Given the description of an element on the screen output the (x, y) to click on. 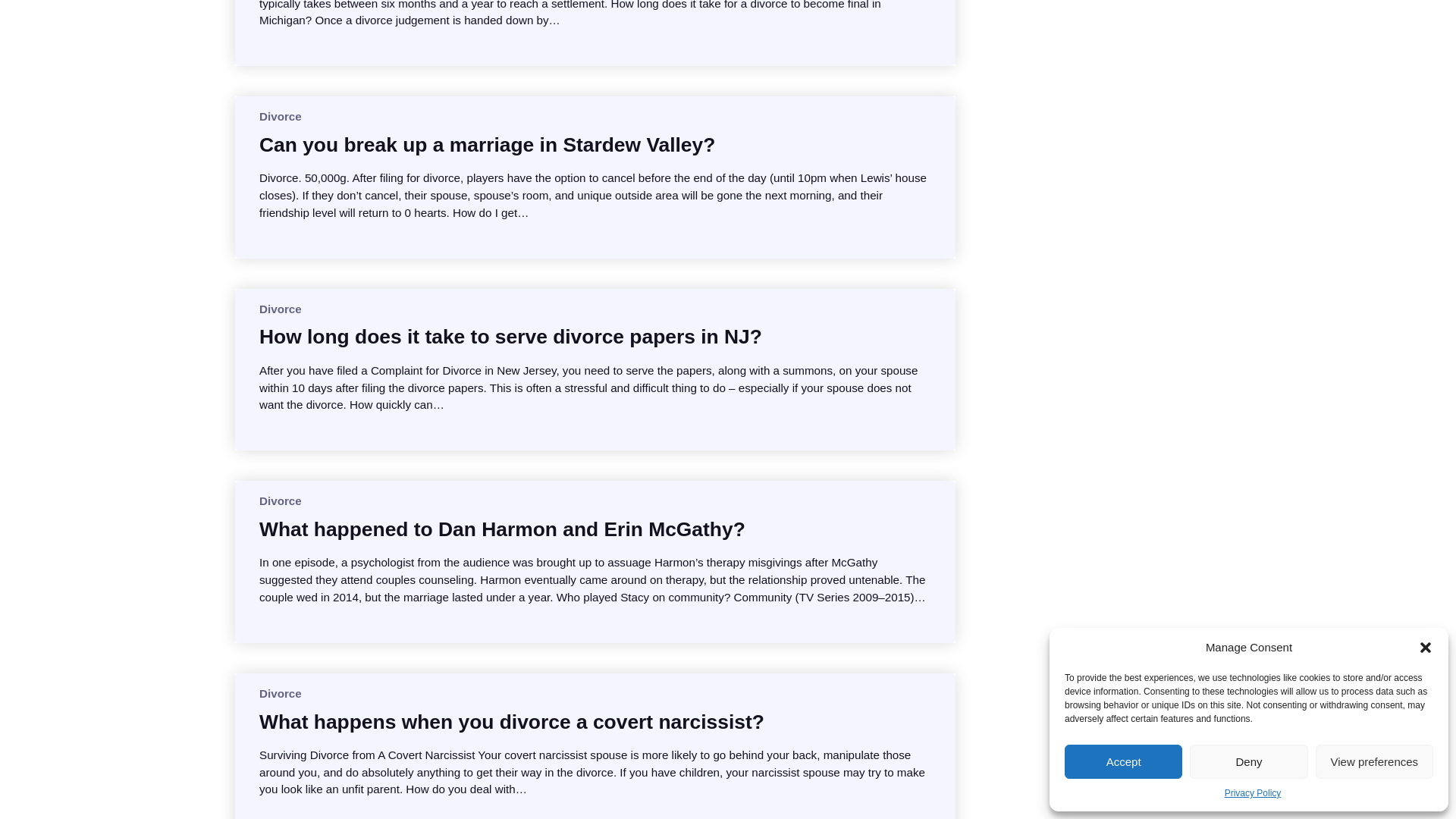
Divorce (280, 693)
Divorce (280, 115)
Divorce (280, 308)
How long does it take to serve divorce papers in NJ? (510, 336)
What happens when you divorce a covert narcissist? (511, 721)
Divorce (280, 500)
What happened to Dan Harmon and Erin McGathy? (502, 529)
Can you break up a marriage in Stardew Valley? (486, 144)
